Given the description of an element on the screen output the (x, y) to click on. 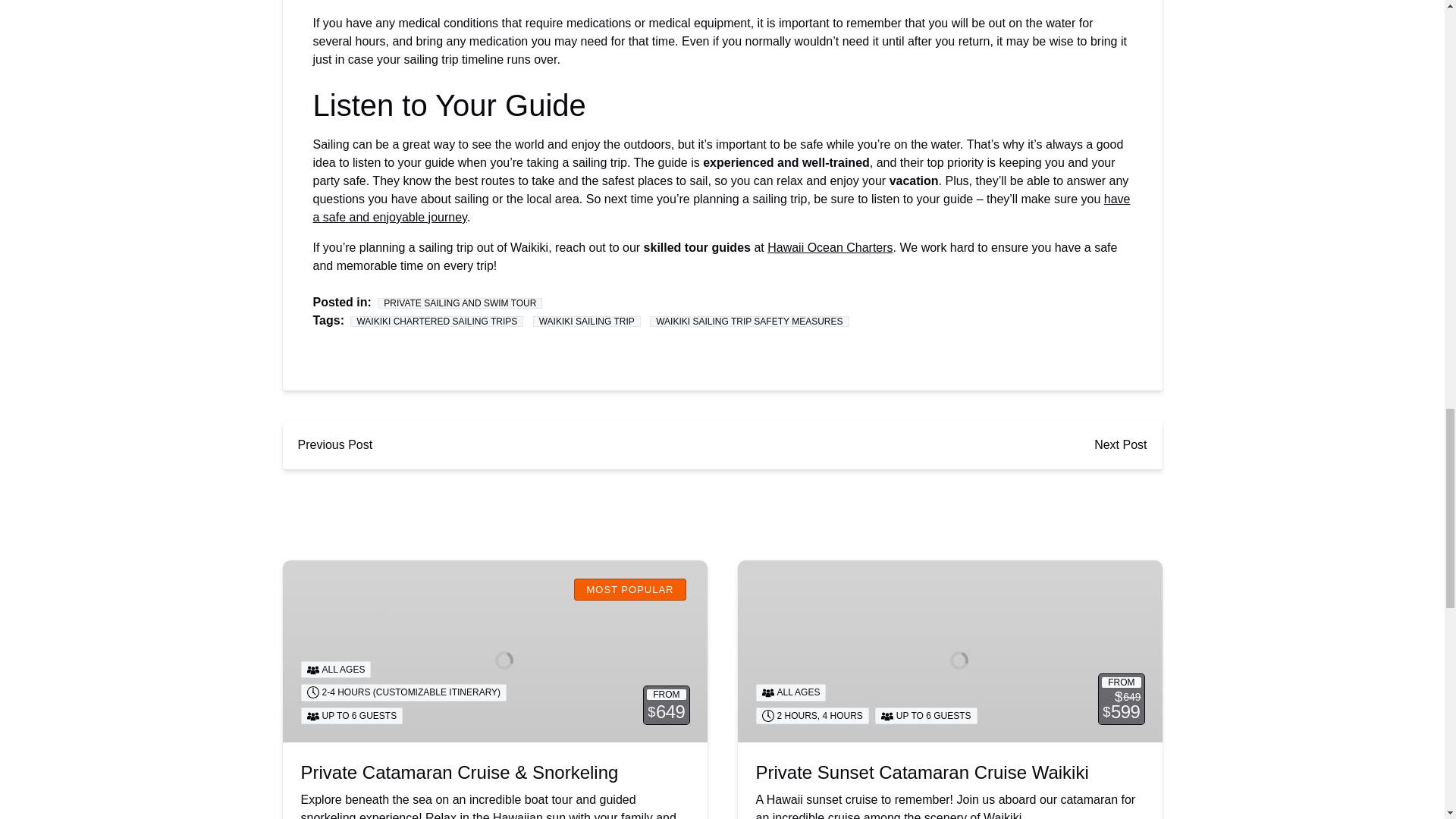
PRIVATE SAILING AND SWIM TOUR (459, 303)
Next Post (1119, 444)
Previous Post (334, 444)
have a safe and enjoyable journey (721, 207)
WAIKIKI CHARTERED SAILING TRIPS (436, 321)
WAIKIKI SAILING TRIP (586, 321)
Hawaii Ocean Charters (829, 246)
WAIKIKI SAILING TRIP SAFETY MEASURES (748, 321)
